Given the description of an element on the screen output the (x, y) to click on. 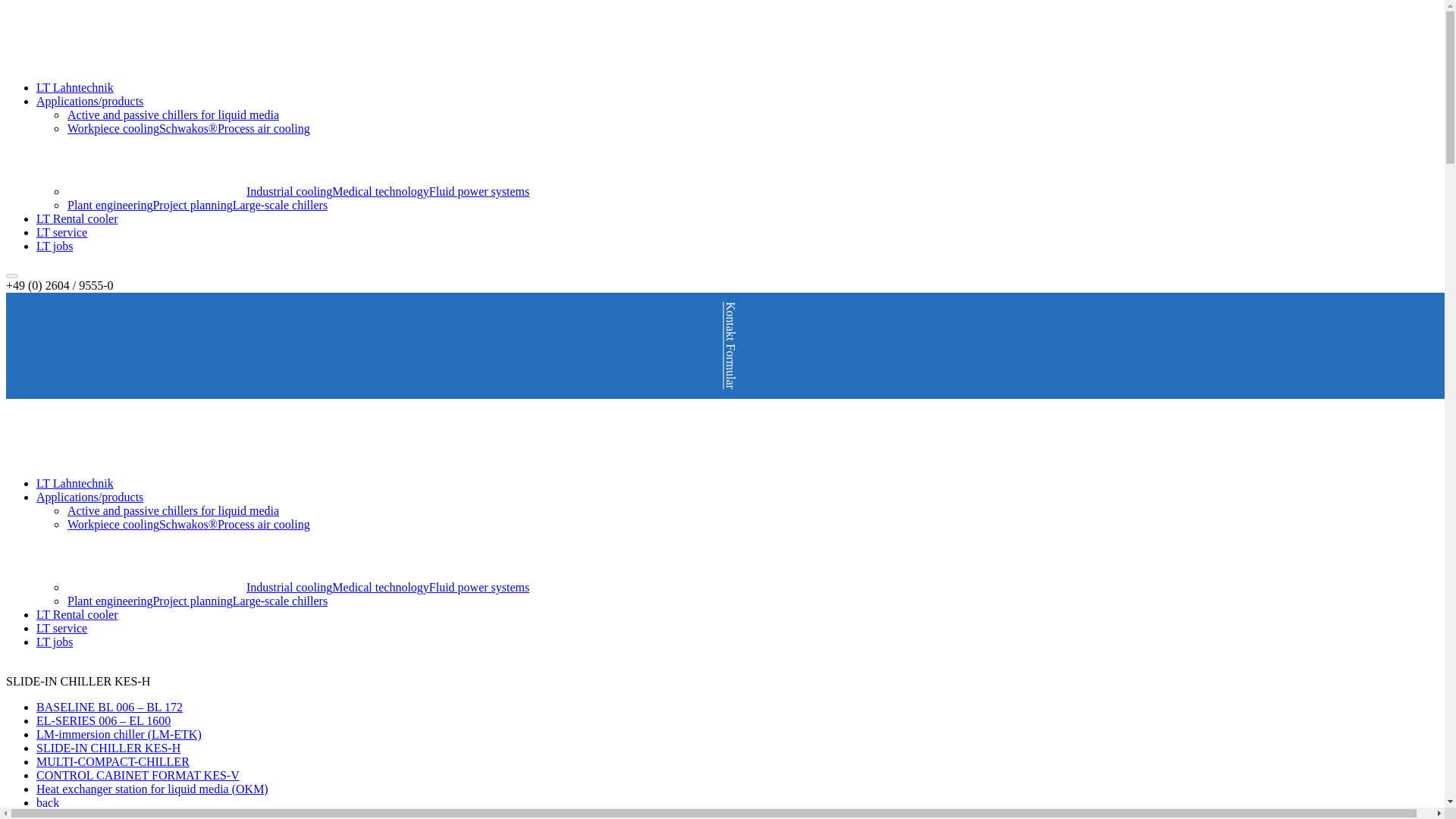
Fluid power systems (479, 586)
Large-scale chillers (279, 205)
LT Lahntechnik (74, 482)
Active and passive chillers for liquid media (172, 510)
Workpiece cooling (112, 523)
Process air cooling (263, 128)
Industrial cooling (288, 586)
LT jobs (54, 245)
Project planning (191, 205)
Process air cooling (263, 523)
